Given the description of an element on the screen output the (x, y) to click on. 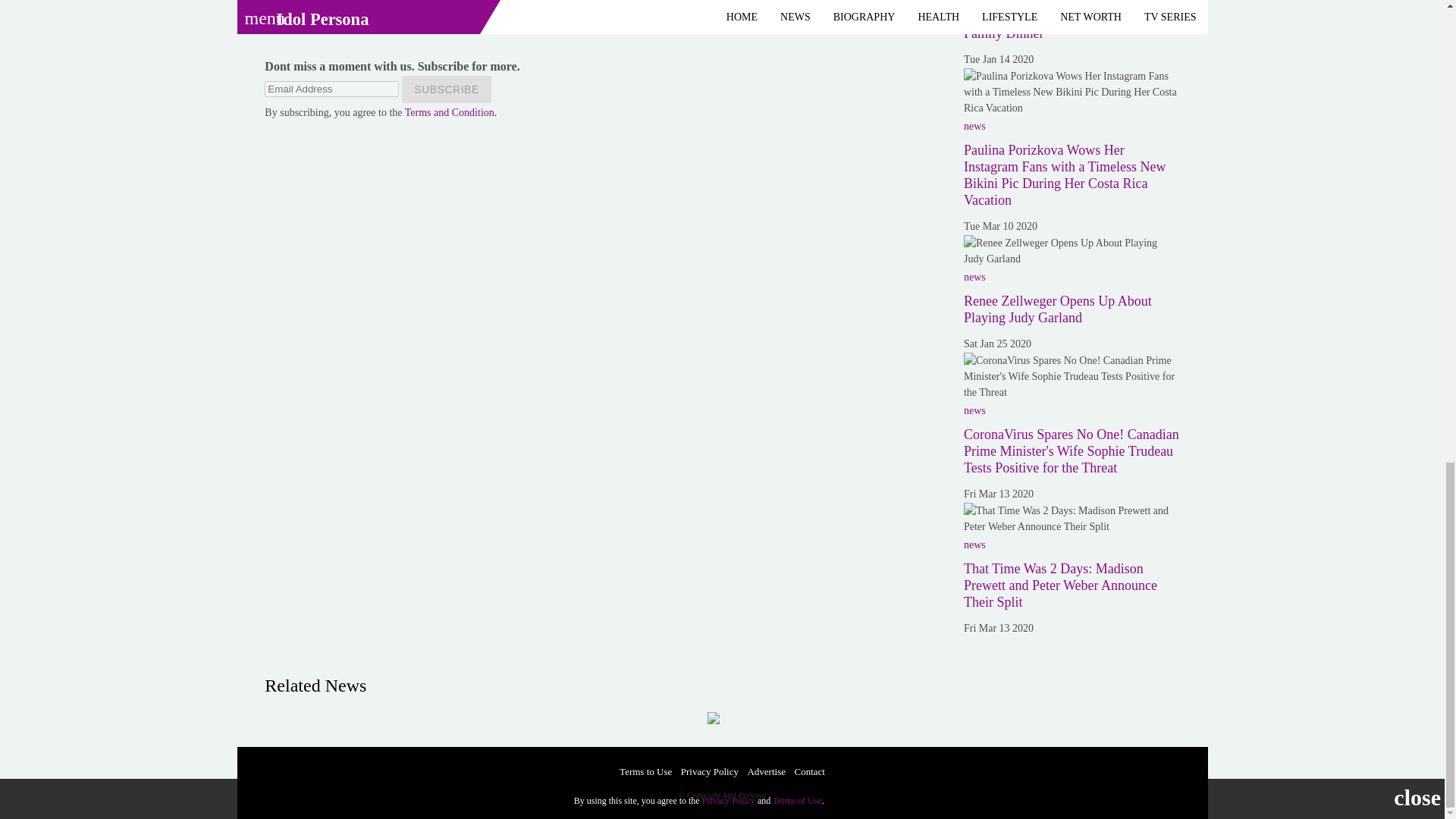
SUBSCRIBE (445, 89)
Renee Zellweger Opens Up About Playing Judy Garland (1071, 250)
Celebrity News (300, 27)
Lori Harvey (292, 5)
Terms and Condition. (450, 112)
Camila Alves Reveals Her Favorite Family Dinner (1060, 25)
